Given the description of an element on the screen output the (x, y) to click on. 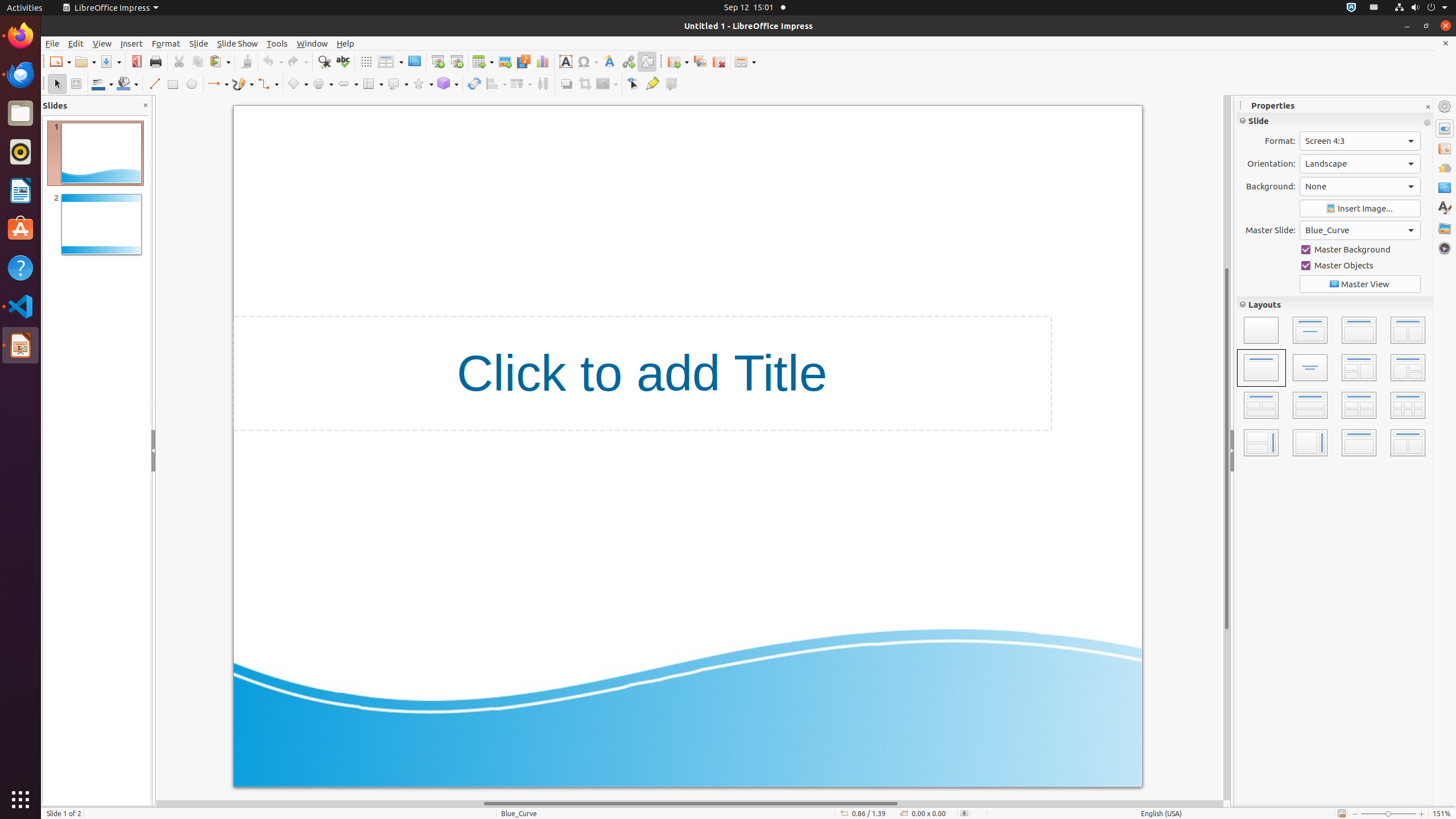
Copy Element type: push-button (197, 61)
Slide Layout Element type: push-button (744, 61)
Line Element type: push-button (153, 83)
Crop Element type: push-button (584, 83)
View Element type: menu (102, 43)
